Given the description of an element on the screen output the (x, y) to click on. 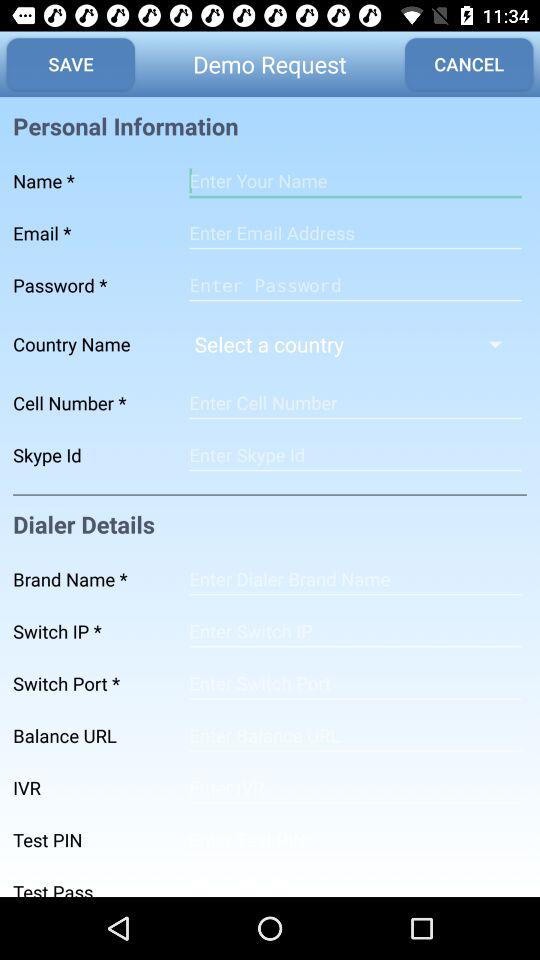
fill the option (355, 788)
